Given the description of an element on the screen output the (x, y) to click on. 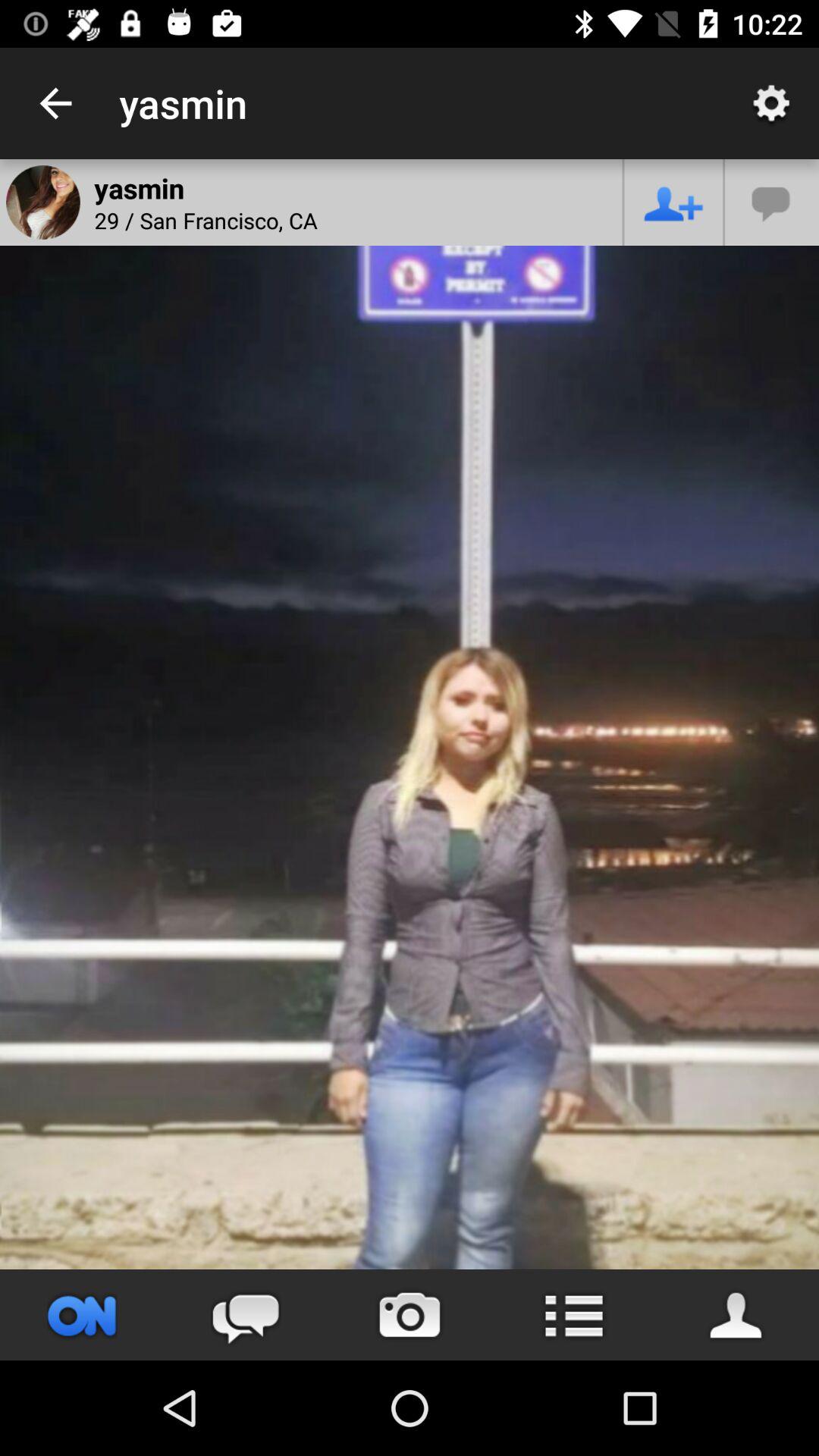
send message (245, 1315)
